Given the description of an element on the screen output the (x, y) to click on. 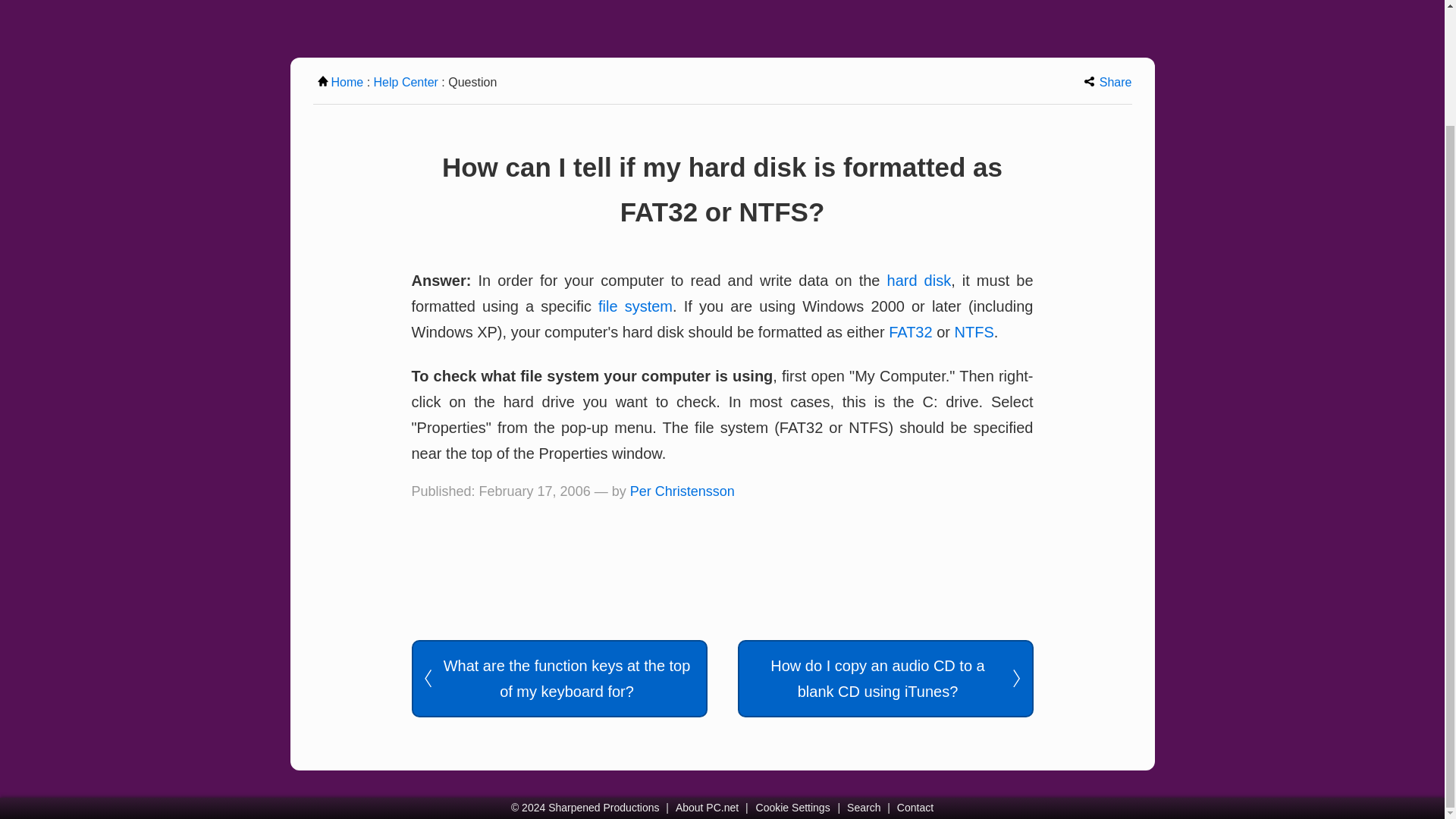
Contact (915, 807)
Help Center (406, 82)
What are the function keys at the top of my keyboard for? (558, 678)
hard disk (919, 280)
Search (863, 807)
Home (340, 82)
How do I copy an audio CD to a blank CD using iTunes? (884, 678)
About PC.net (706, 807)
file system (635, 306)
Cookie Settings (792, 807)
Per Christensson (682, 491)
NTFS (974, 331)
Share (1108, 82)
FAT32 (909, 331)
